Given the description of an element on the screen output the (x, y) to click on. 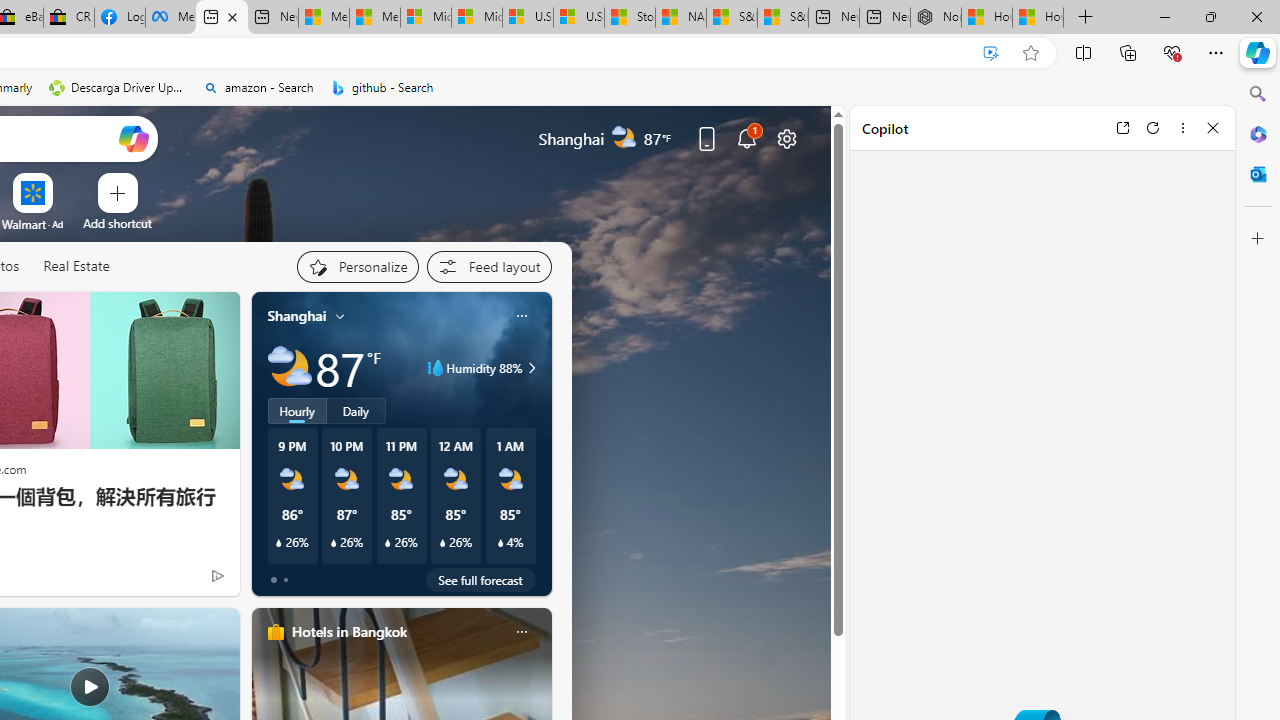
Hourly (296, 411)
Meta Store (170, 17)
Hotels in Bangkok (348, 631)
Page settings (786, 138)
Partly cloudy (289, 368)
Shanghai (296, 315)
Open link in new tab (1122, 127)
Customize (1258, 239)
